Given the description of an element on the screen output the (x, y) to click on. 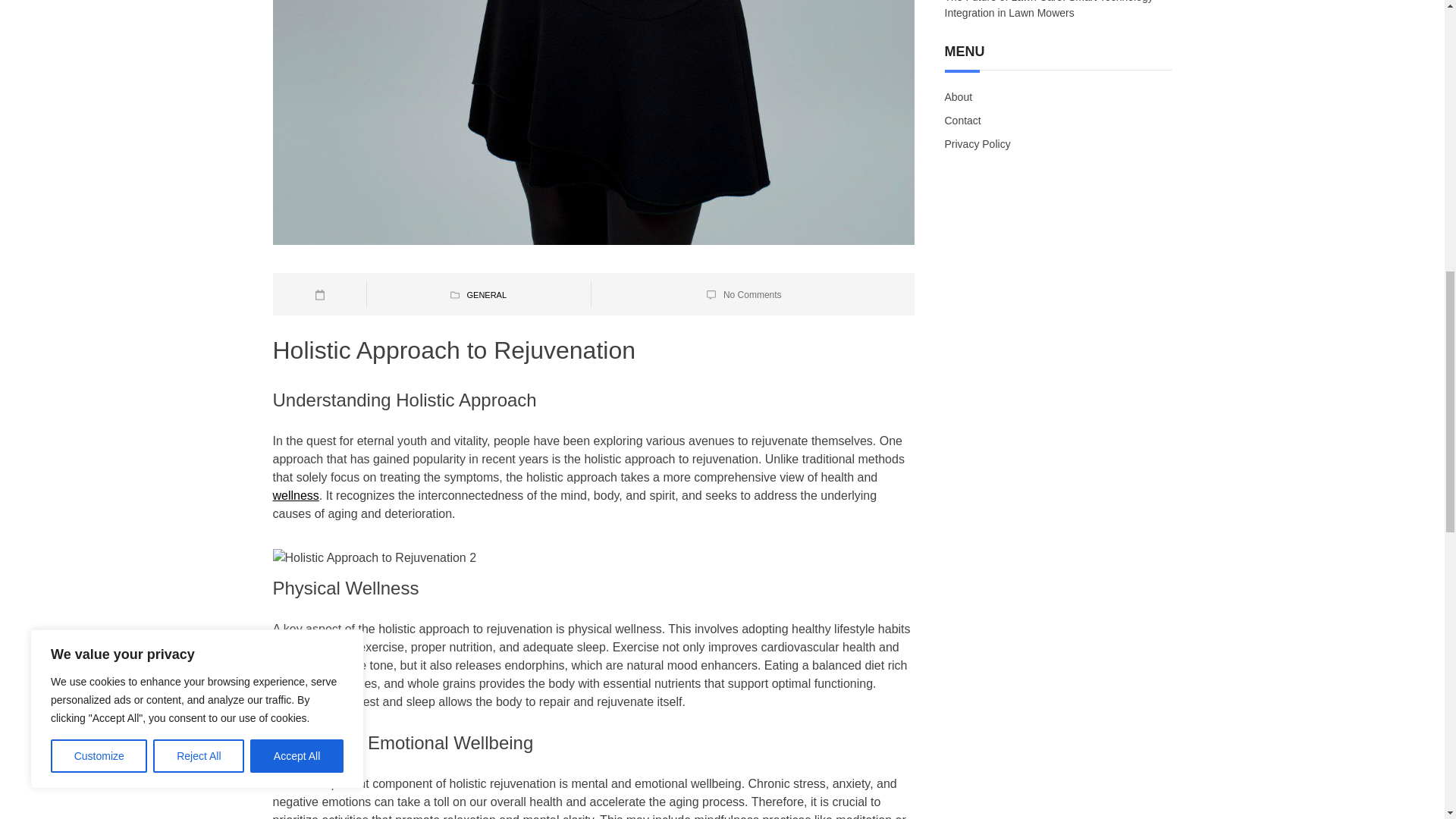
wellness (295, 495)
No Comments (752, 294)
GENERAL (485, 294)
